Given the description of an element on the screen output the (x, y) to click on. 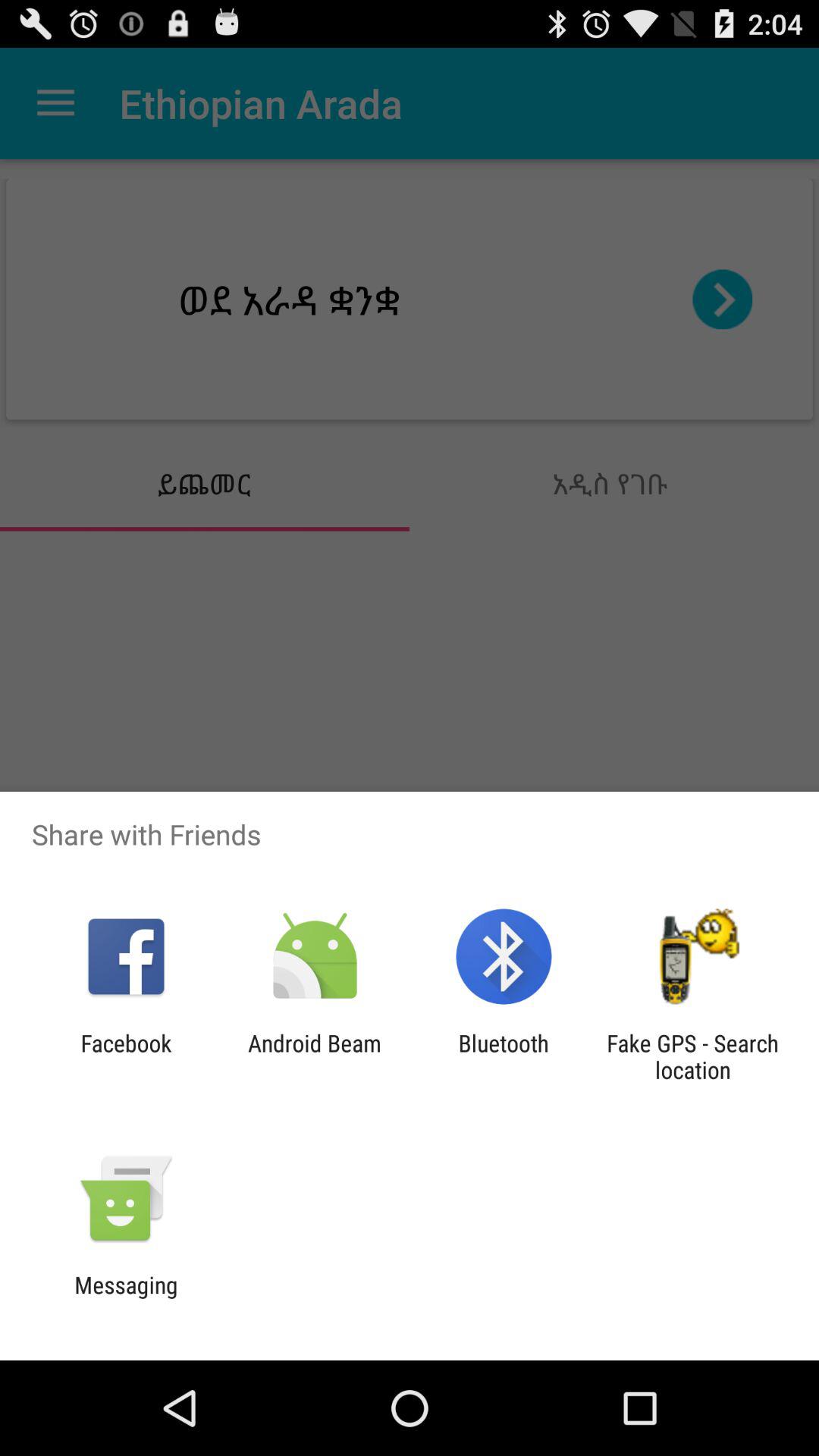
open app at the bottom right corner (692, 1056)
